Given the description of an element on the screen output the (x, y) to click on. 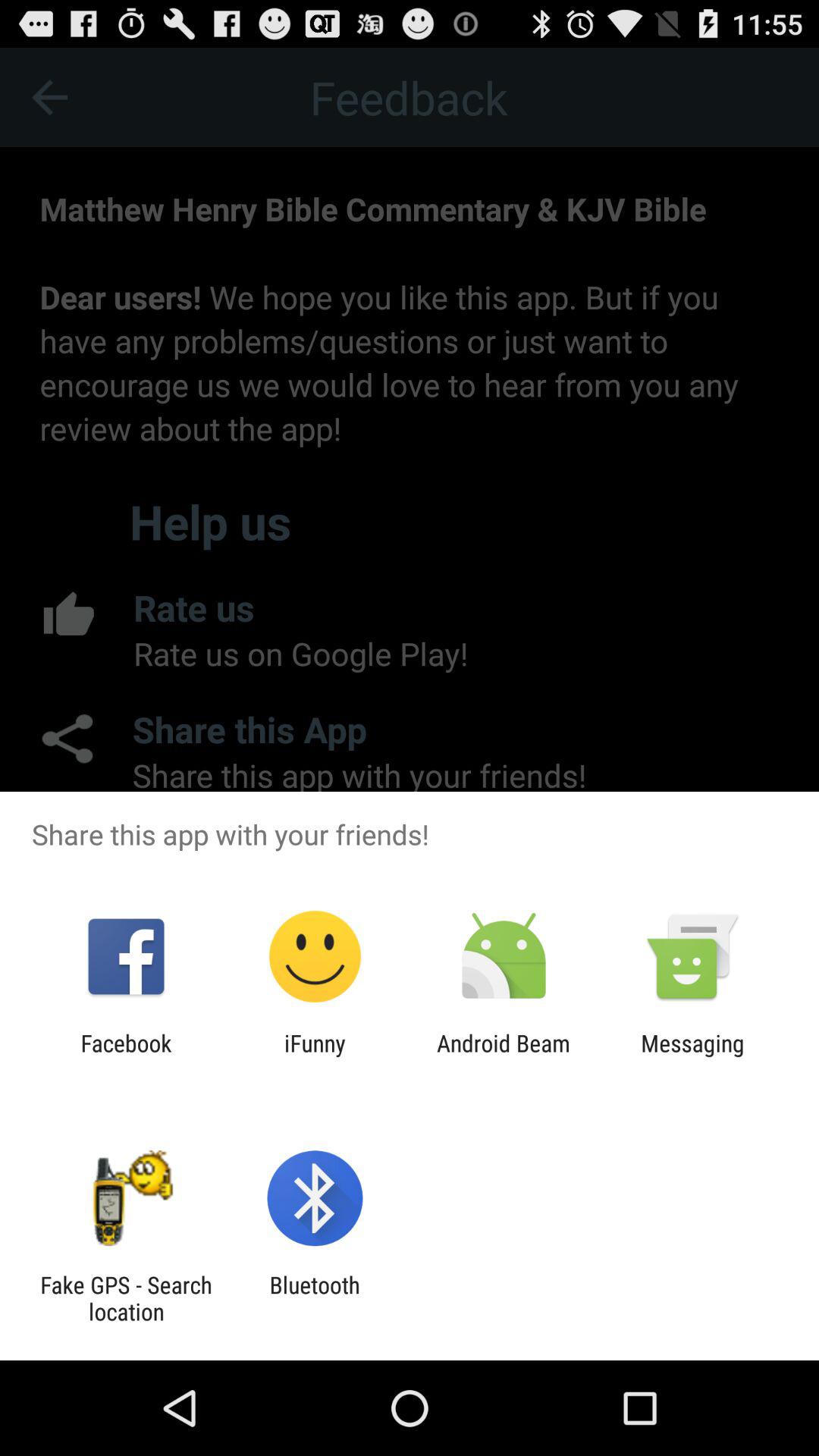
press the icon next to android beam icon (692, 1056)
